Given the description of an element on the screen output the (x, y) to click on. 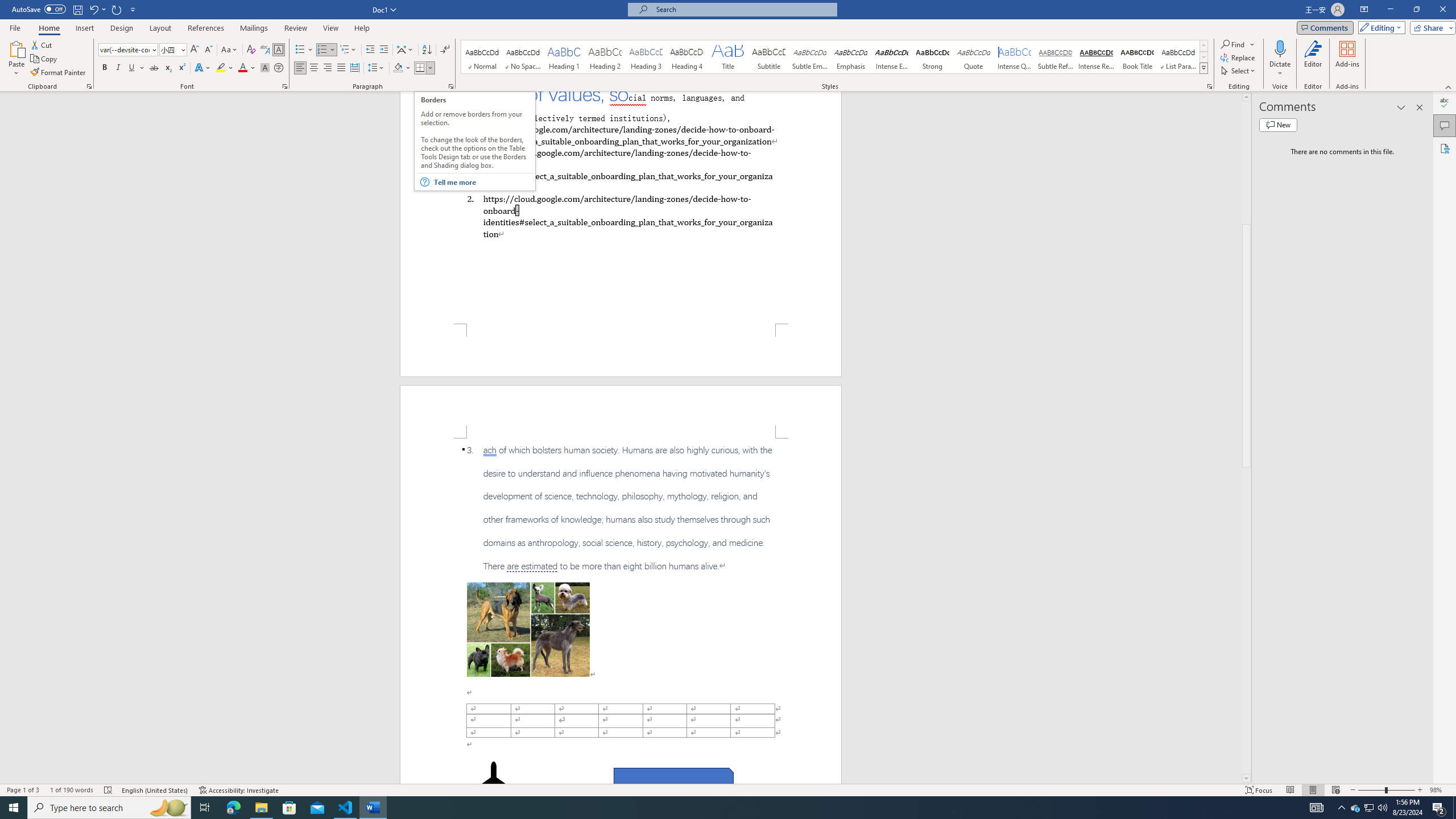
Morphological variation in six dogs (528, 629)
Editing (1379, 27)
